Given the description of an element on the screen output the (x, y) to click on. 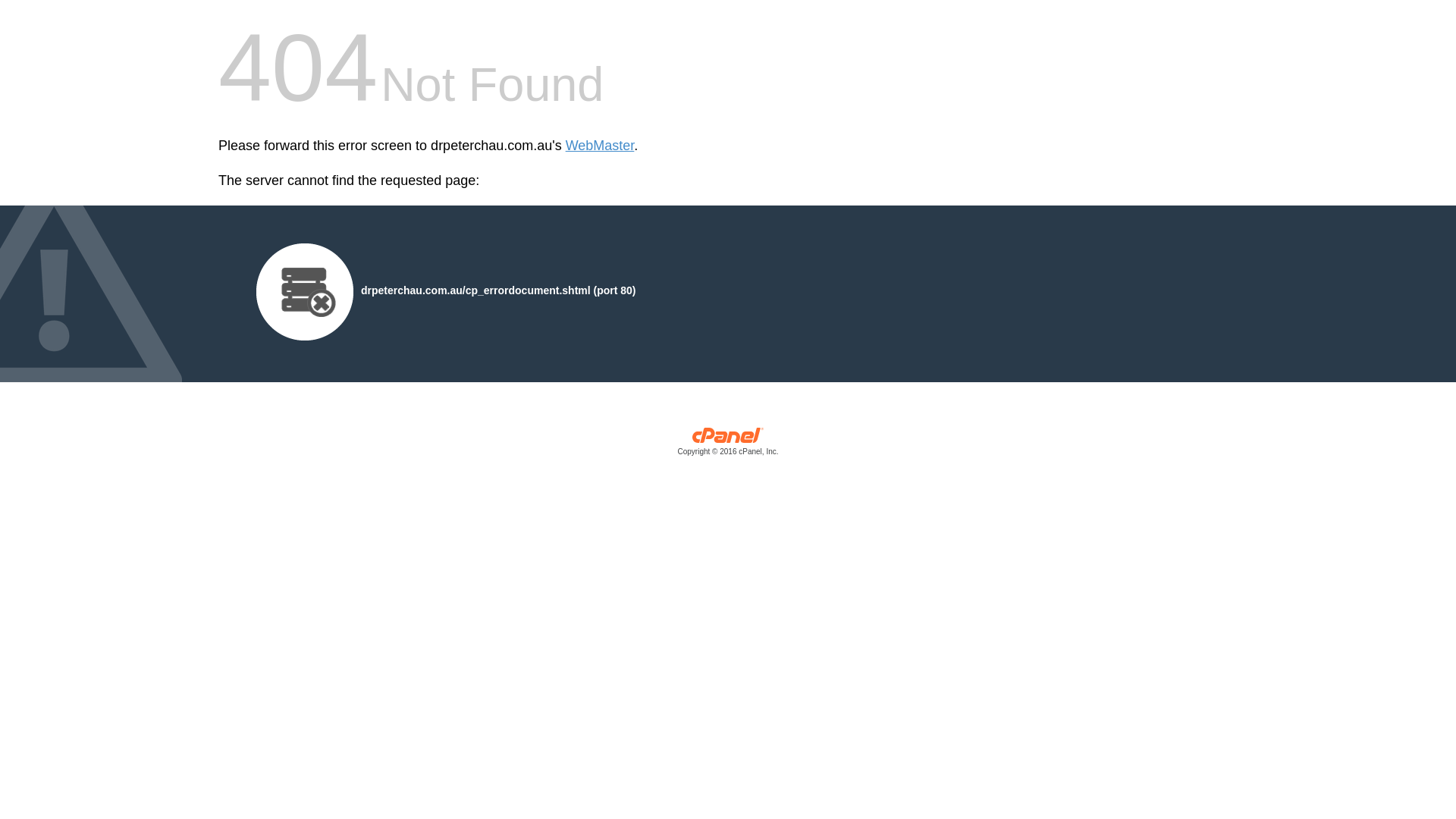
WebMaster Element type: text (599, 145)
